Given the description of an element on the screen output the (x, y) to click on. 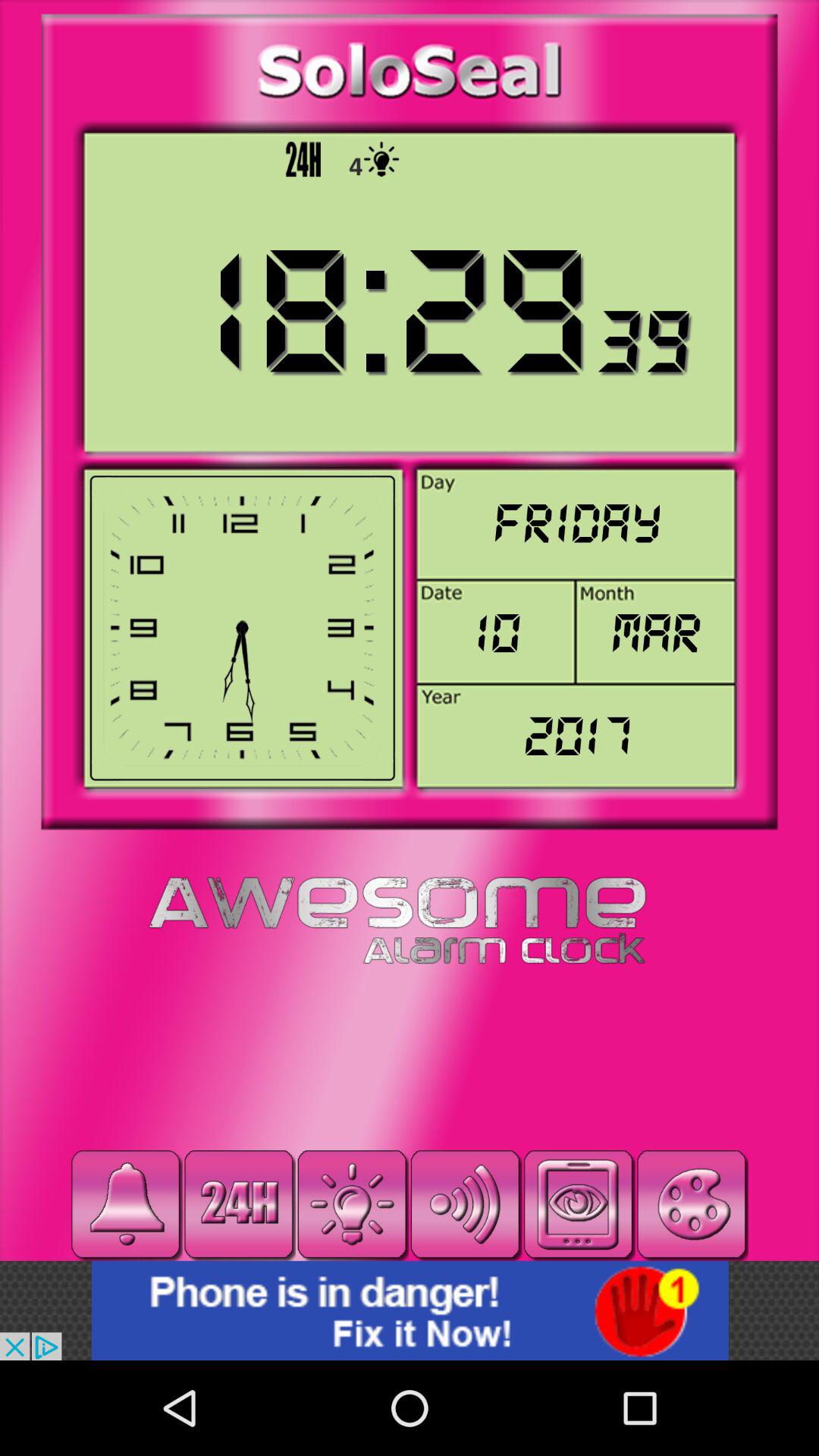
add the picture (409, 1310)
